Given the description of an element on the screen output the (x, y) to click on. 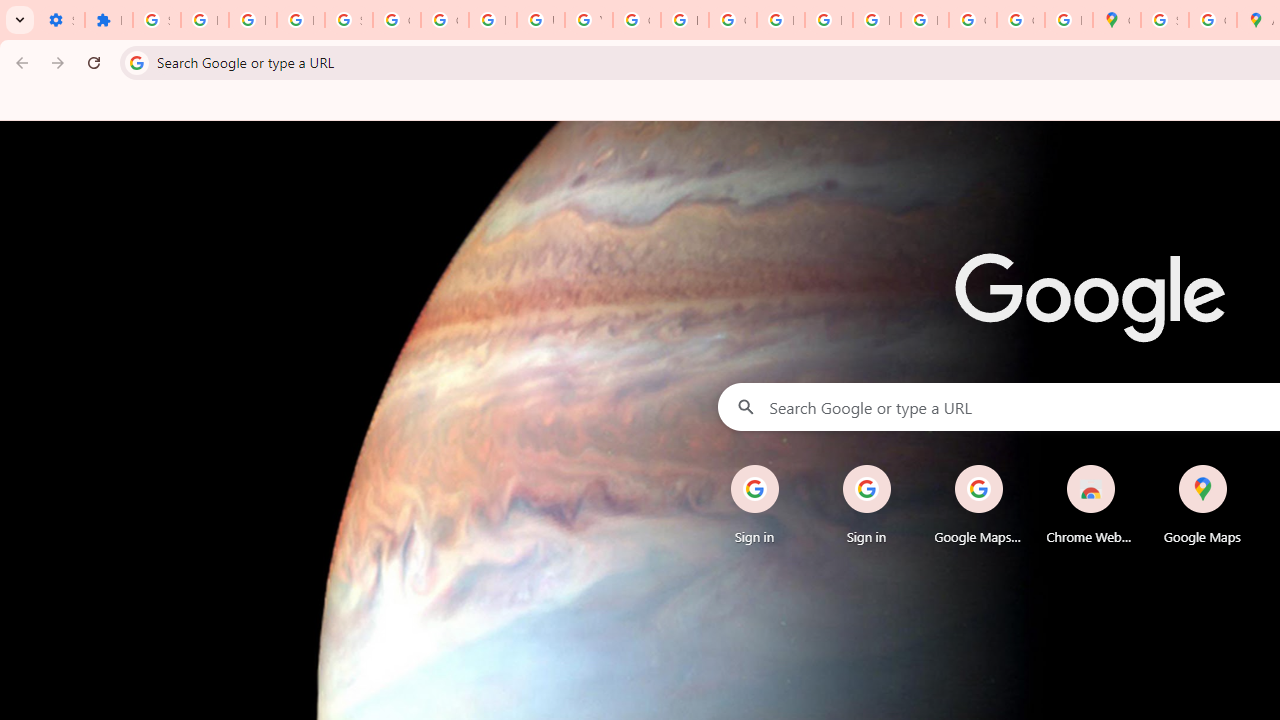
Chrome Web Store (1090, 504)
Remove (1241, 466)
Settings - On startup (60, 20)
Google Maps (1116, 20)
Sign in - Google Accounts (1164, 20)
Delete photos & videos - Computer - Google Photos Help (204, 20)
